Given the description of an element on the screen output the (x, y) to click on. 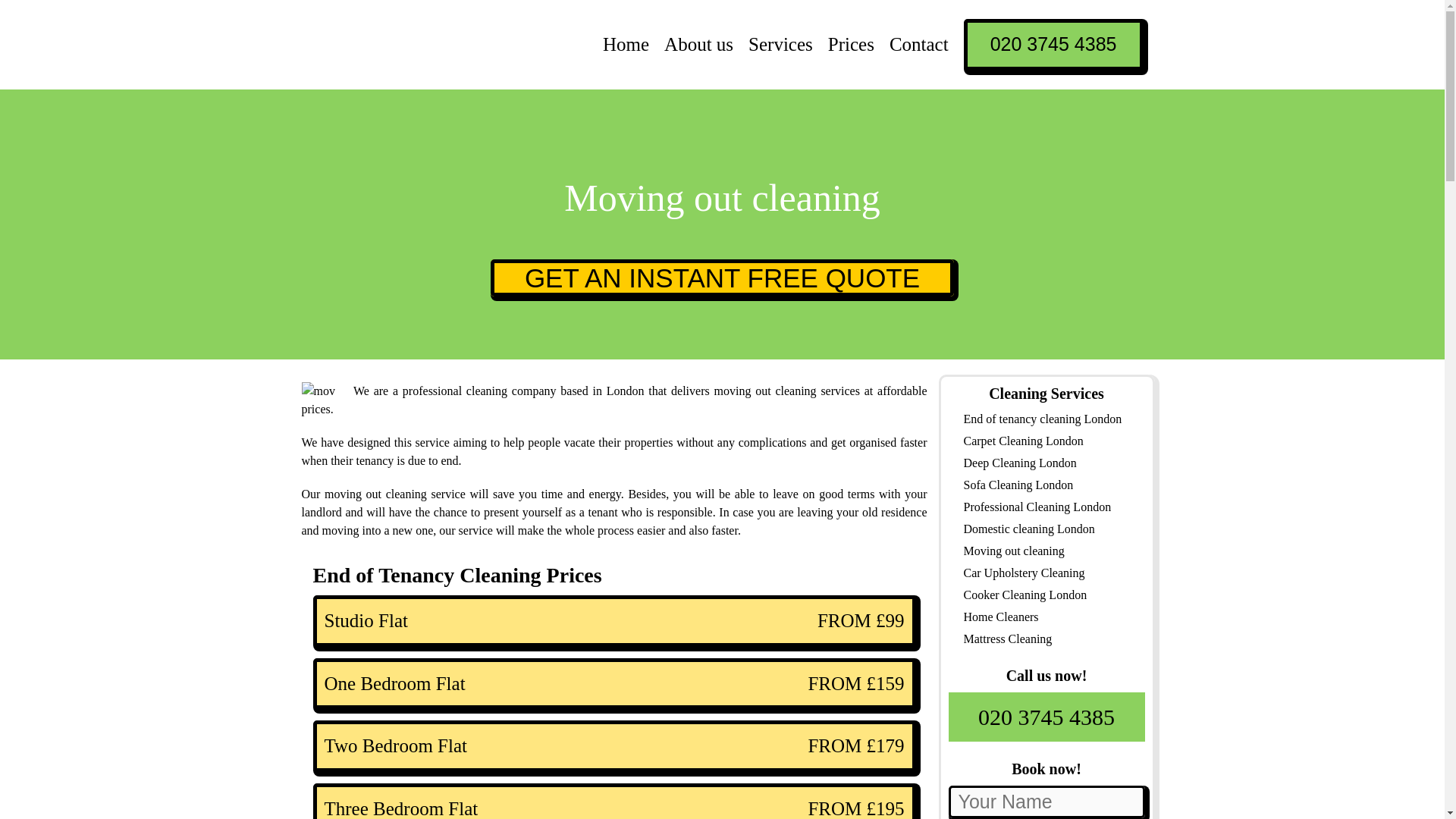
Moving out cleaning (1013, 550)
Professional Cleaning London (1036, 506)
End of tenancy cleaning London (1041, 418)
Contact (919, 44)
Prices (851, 44)
About us (698, 44)
Car Upholstery Cleaning (1023, 571)
Sofa Cleaning London (1017, 483)
GET AN INSTANT FREE QUOTE (721, 277)
Services (780, 44)
Home (625, 44)
Home Cleaners (1000, 615)
Carpet Cleaning London (1022, 440)
020 3745 4385 (1053, 44)
Domestic cleaning London (1028, 527)
